Given the description of an element on the screen output the (x, y) to click on. 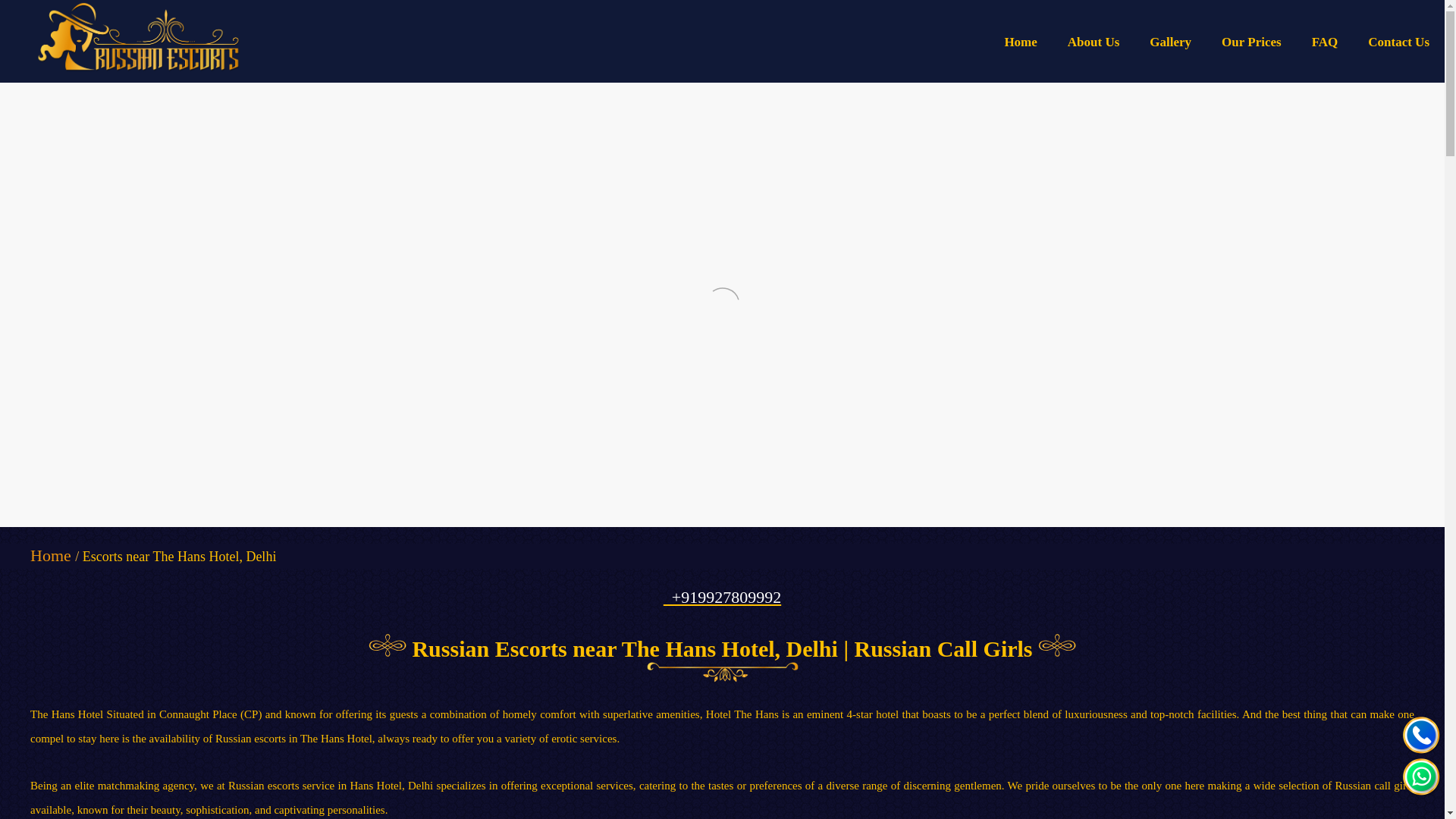
Home (50, 555)
Gallery (1170, 42)
Our Prices (1252, 42)
FAQ (1325, 42)
Home (1019, 42)
About Us (1093, 42)
